Given the description of an element on the screen output the (x, y) to click on. 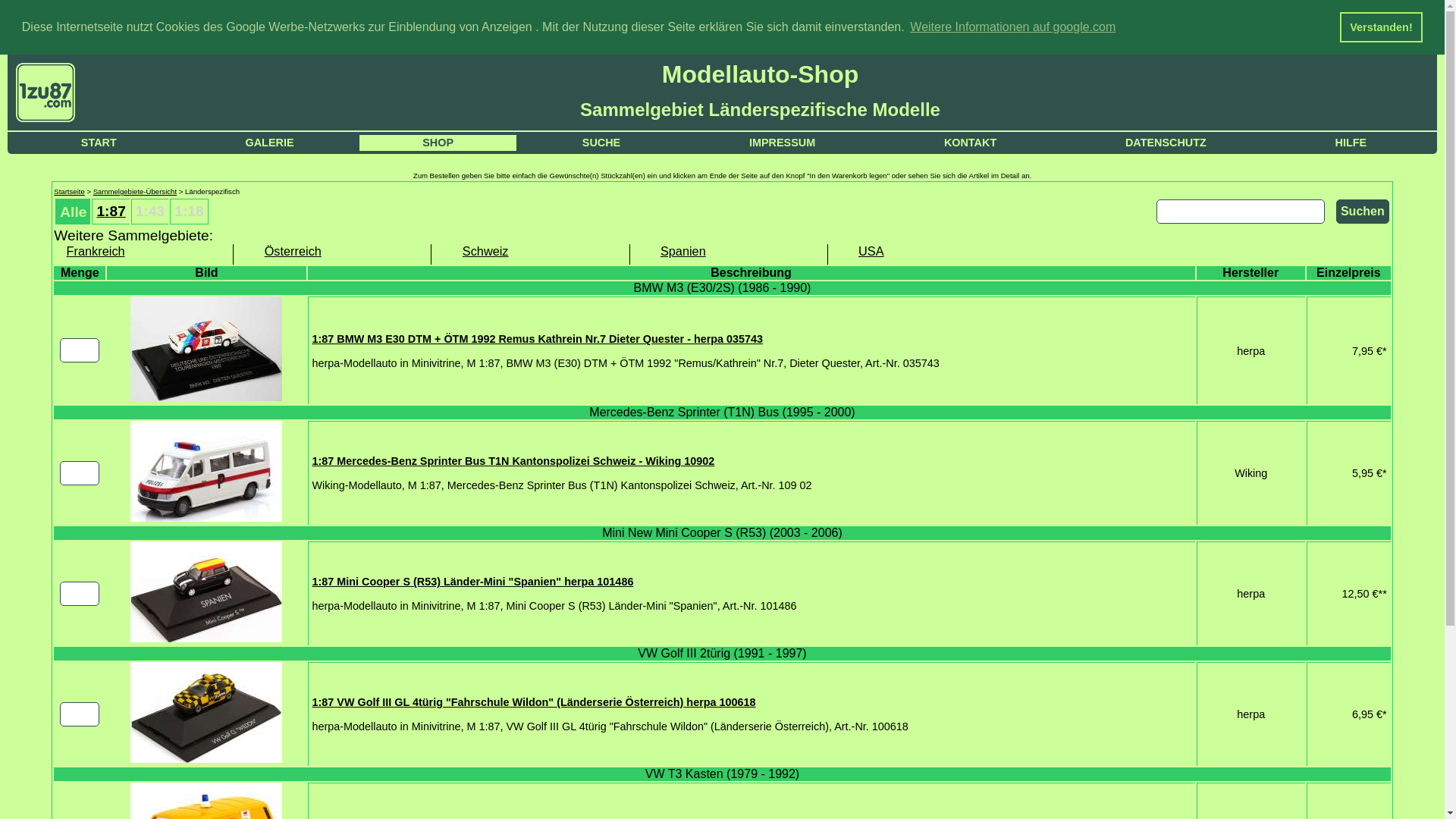
Weitere Informationen auf google.com Element type: text (1012, 26)
KONTAKT Element type: text (970, 142)
IMPRESSUM Element type: text (782, 142)
SUCHE Element type: text (601, 142)
DATENSCHUTZ Element type: text (1165, 142)
Startseite Element type: text (68, 191)
Verstanden! Element type: text (1380, 27)
Suchen Element type: text (1362, 211)
Frankreich Element type: text (134, 251)
GALERIE Element type: text (269, 142)
HILFE Element type: text (1350, 142)
USA Element type: text (926, 251)
SHOP Element type: text (437, 142)
Spanien Element type: text (728, 251)
Schweiz Element type: text (530, 251)
1:87 Element type: text (110, 211)
START Element type: text (98, 142)
